Given the description of an element on the screen output the (x, y) to click on. 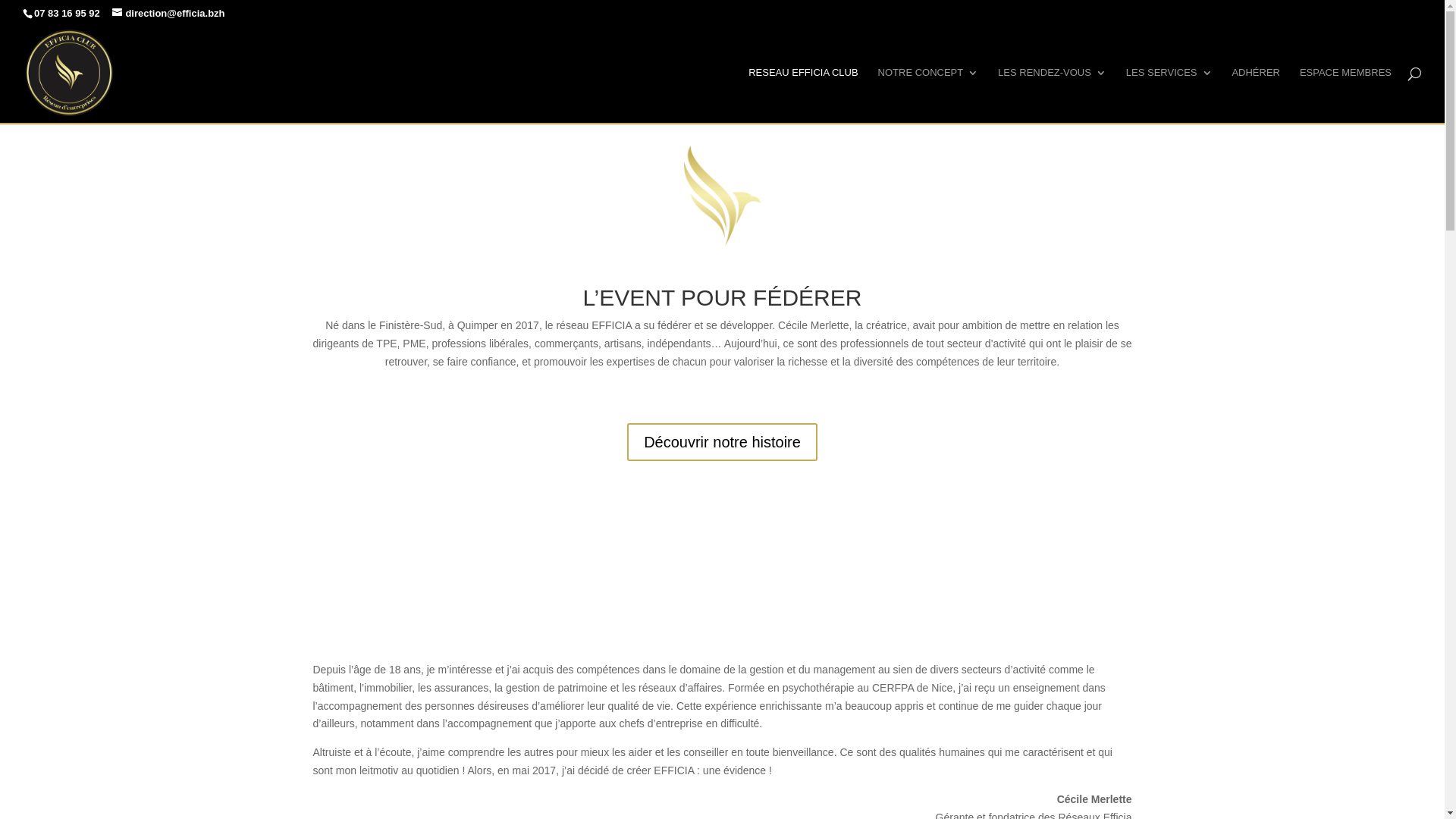
LES SERVICES Element type: text (1169, 94)
direction@efficia.bzh Element type: text (168, 12)
RESEAU EFFICIA CLUB Element type: text (802, 94)
NOTRE CONCEPT Element type: text (928, 94)
LES RENDEZ-VOUS Element type: text (1051, 94)
ESPACE MEMBRES Element type: text (1345, 94)
